Given the description of an element on the screen output the (x, y) to click on. 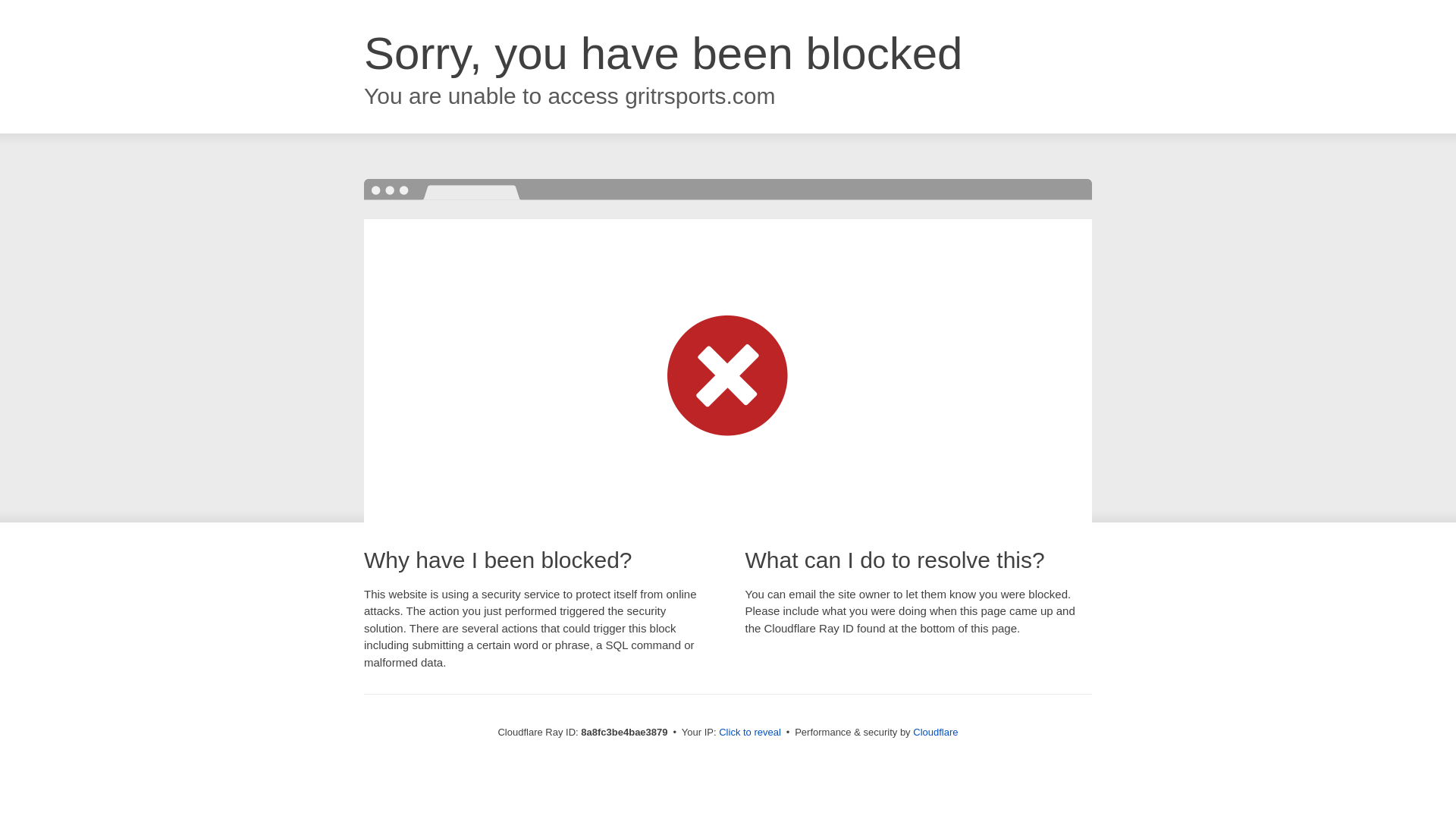
Cloudflare (935, 731)
Click to reveal (749, 732)
